Given the description of an element on the screen output the (x, y) to click on. 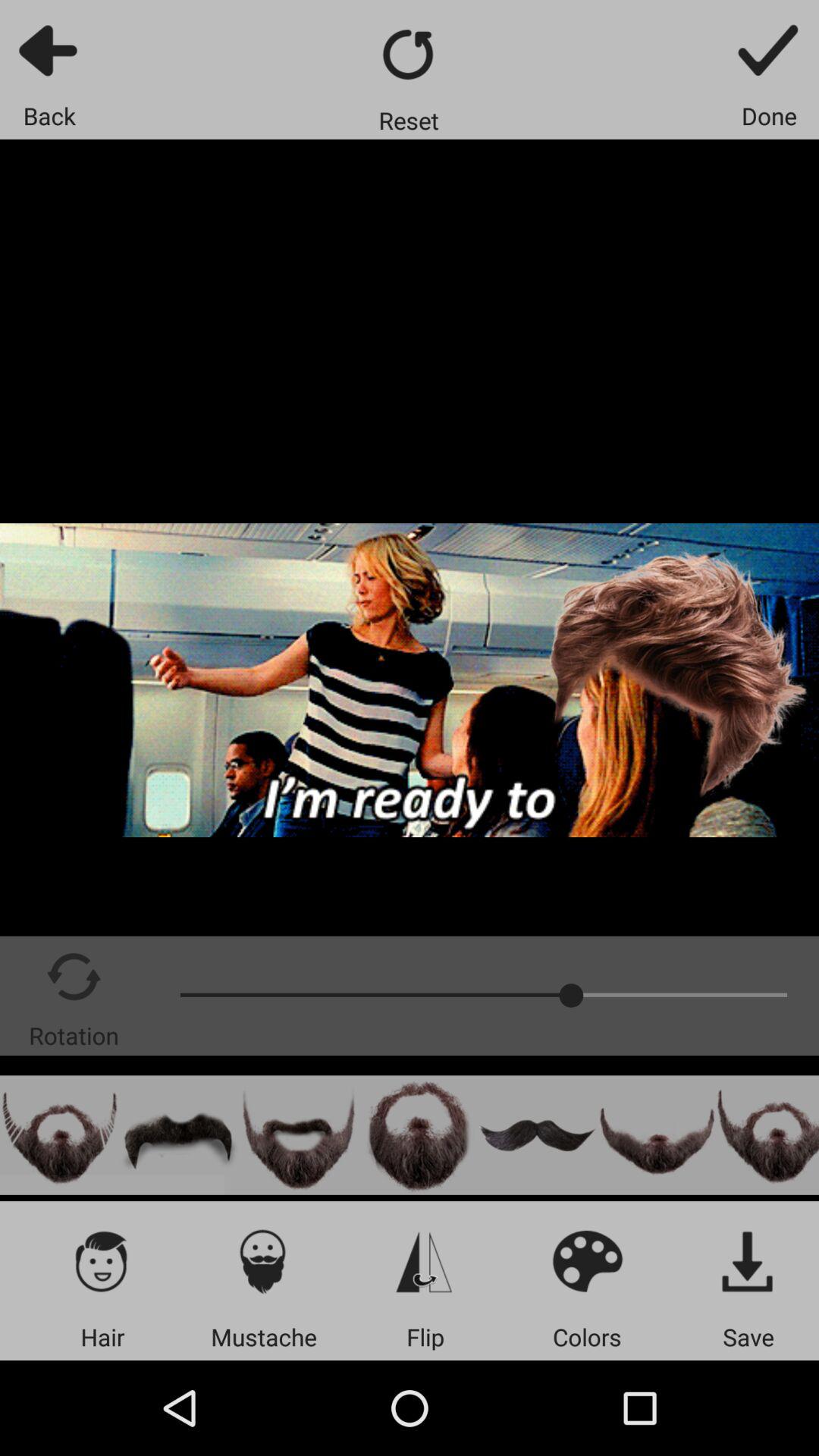
change hair option (102, 1260)
